Given the description of an element on the screen output the (x, y) to click on. 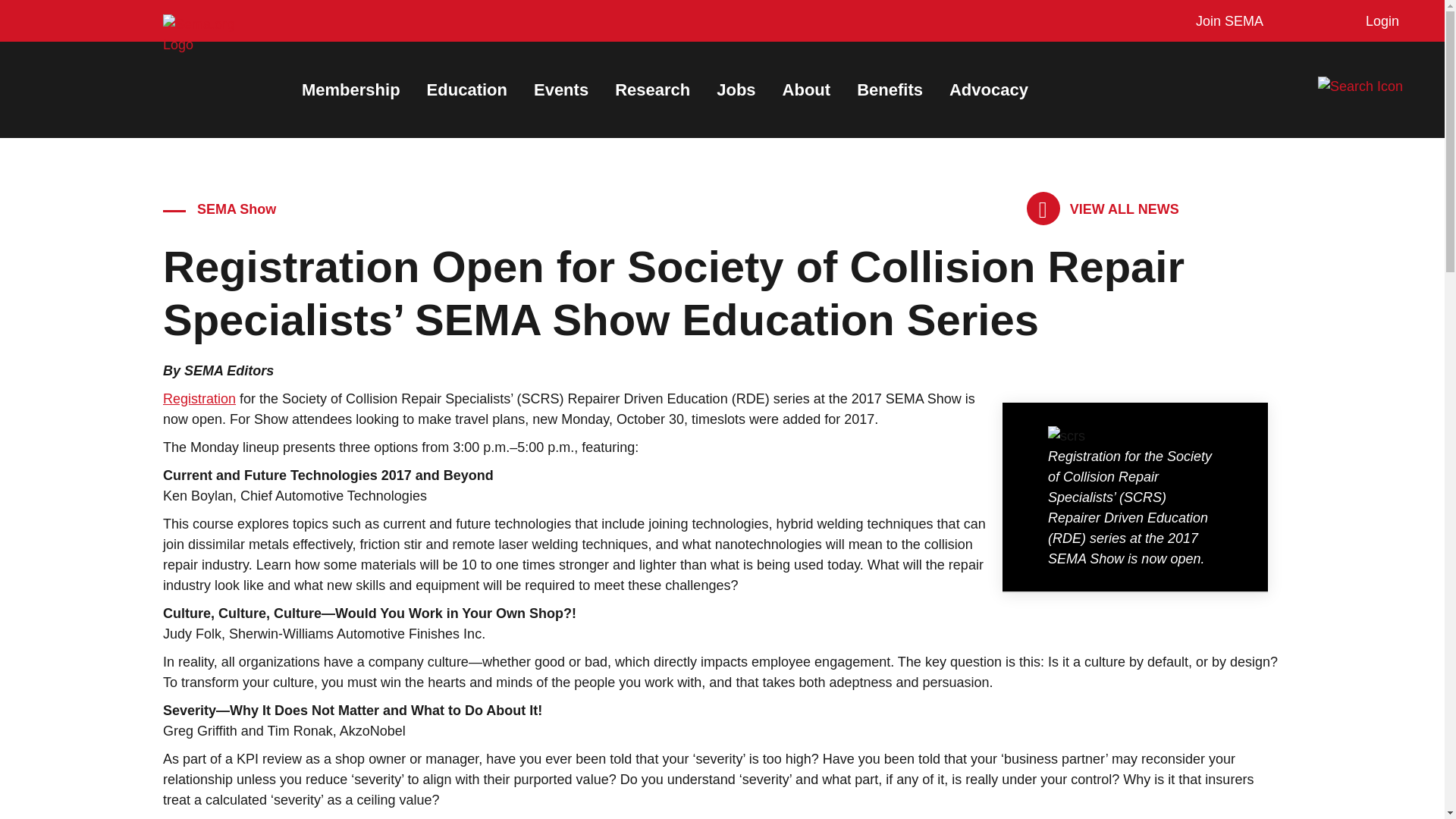
Benefits (889, 89)
eNews archive (1102, 209)
Login (1378, 20)
Advocacy (988, 89)
Research (652, 89)
Education (466, 89)
Membership (350, 89)
Search Sema.org (1373, 86)
VIEW ALL NEWS (1102, 209)
Registration (199, 398)
